Given the description of an element on the screen output the (x, y) to click on. 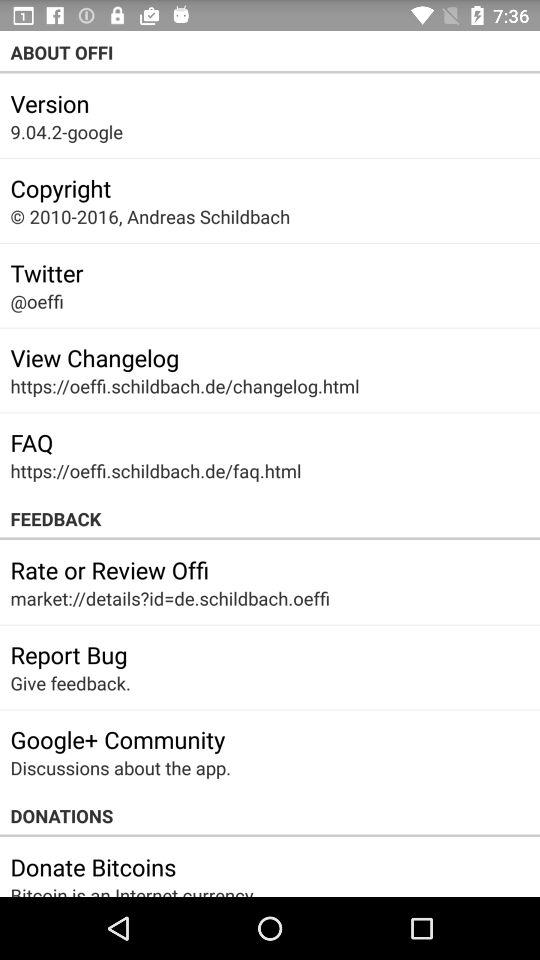
swipe to the report bug icon (68, 654)
